Given the description of an element on the screen output the (x, y) to click on. 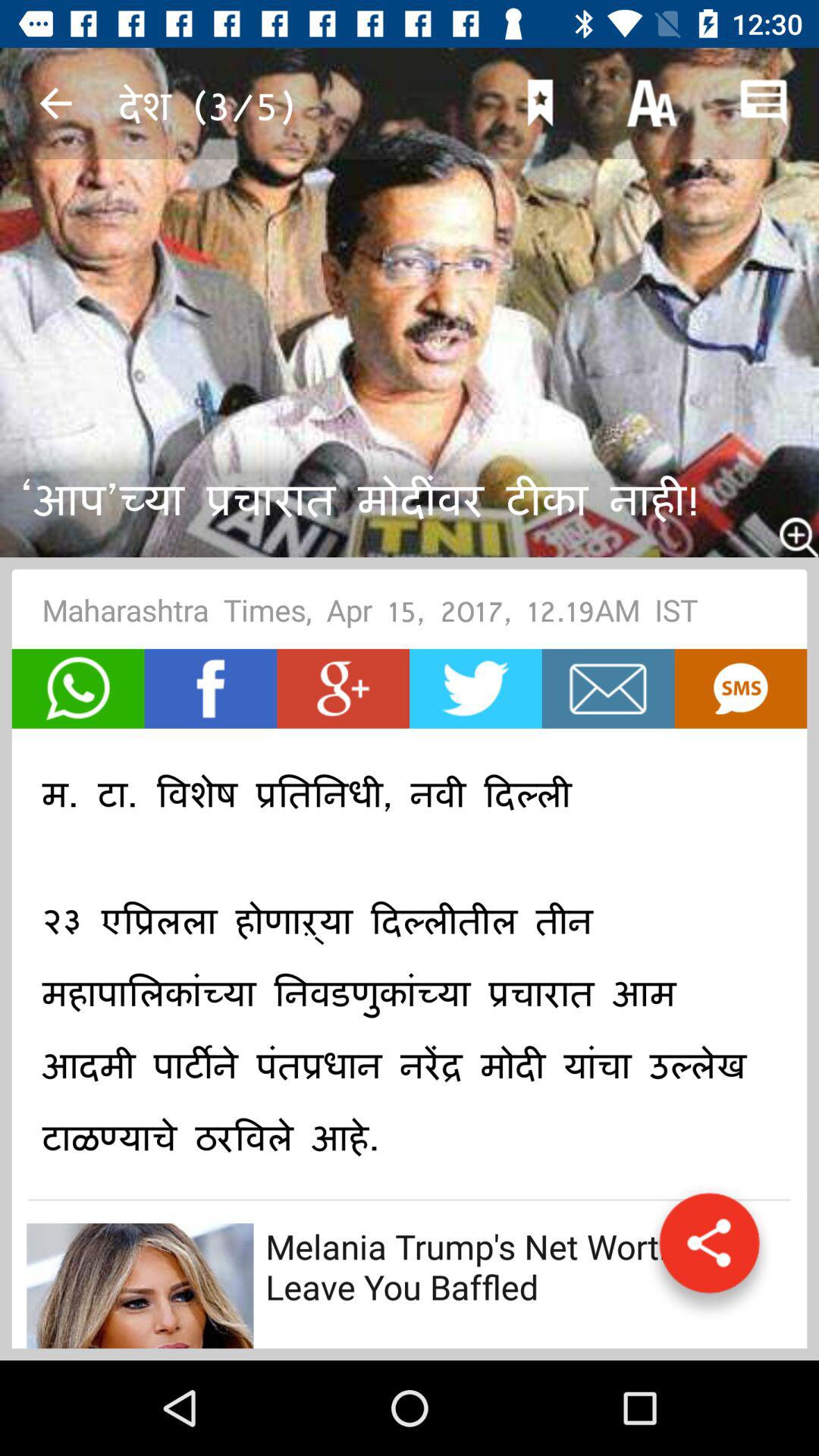
facebook (210, 688)
